Given the description of an element on the screen output the (x, y) to click on. 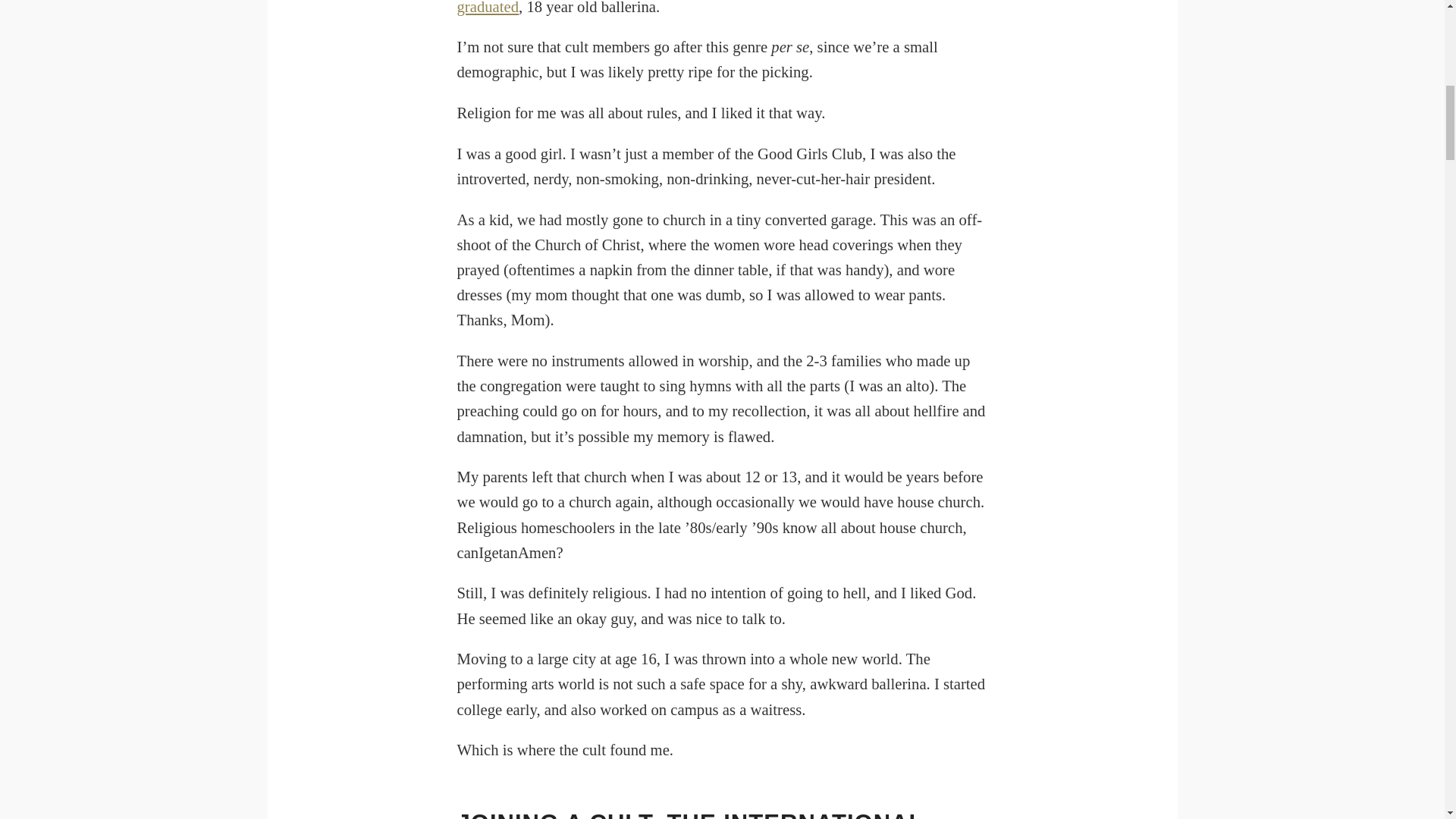
homeschool graduated (720, 7)
